Given the description of an element on the screen output the (x, y) to click on. 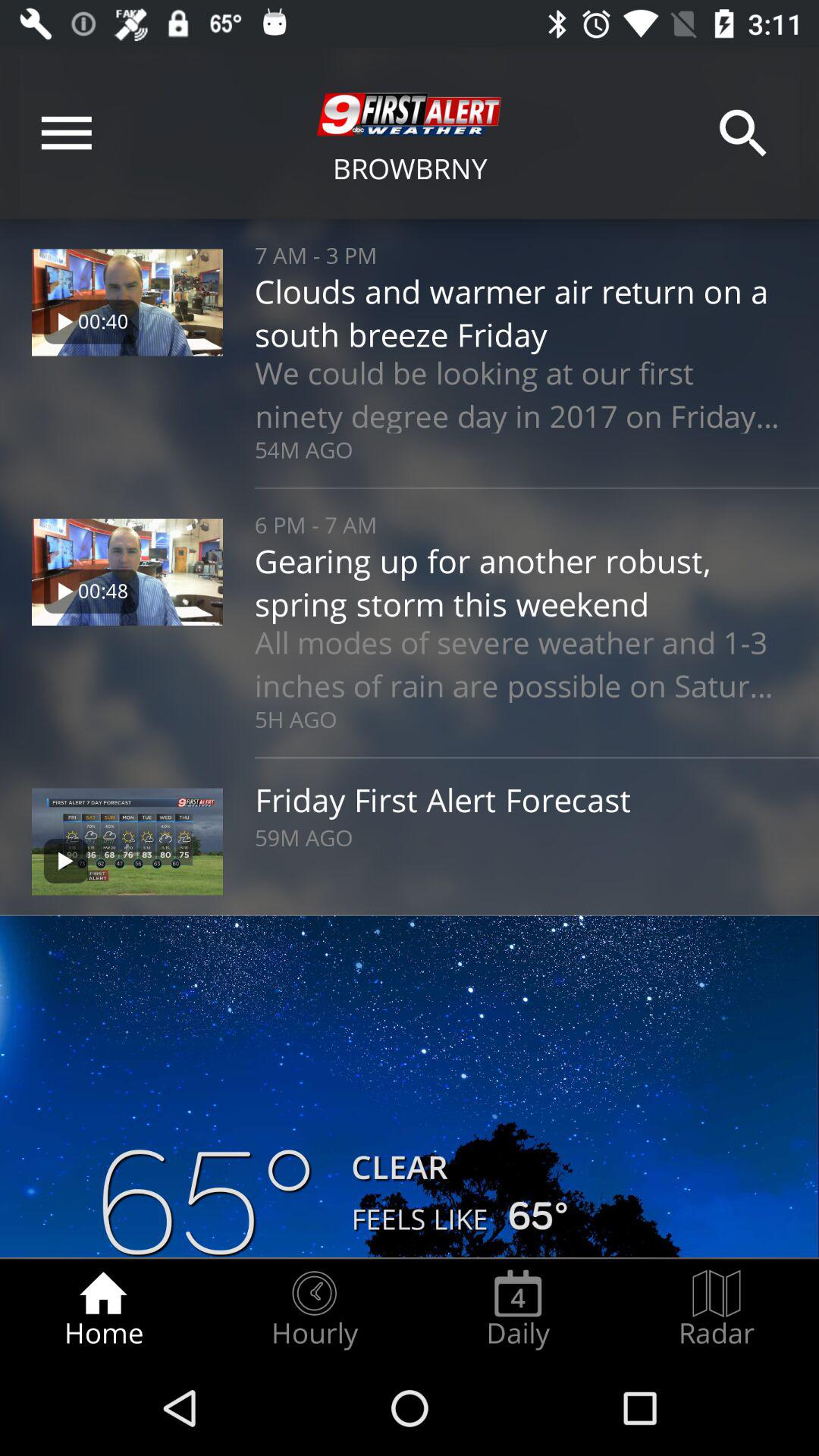
tap daily item (518, 1309)
